Given the description of an element on the screen output the (x, y) to click on. 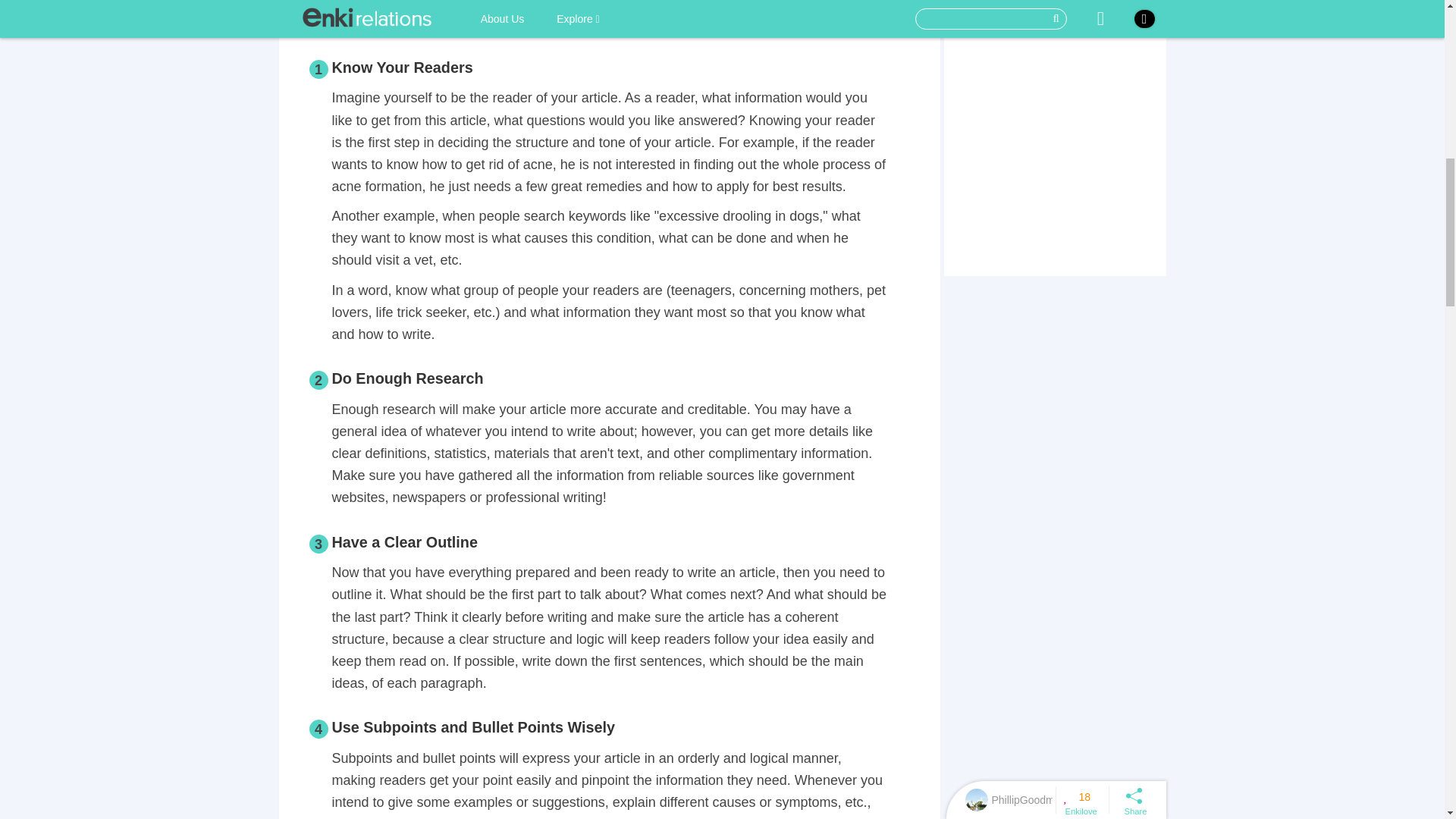
Advertisement (609, 24)
